Given the description of an element on the screen output the (x, y) to click on. 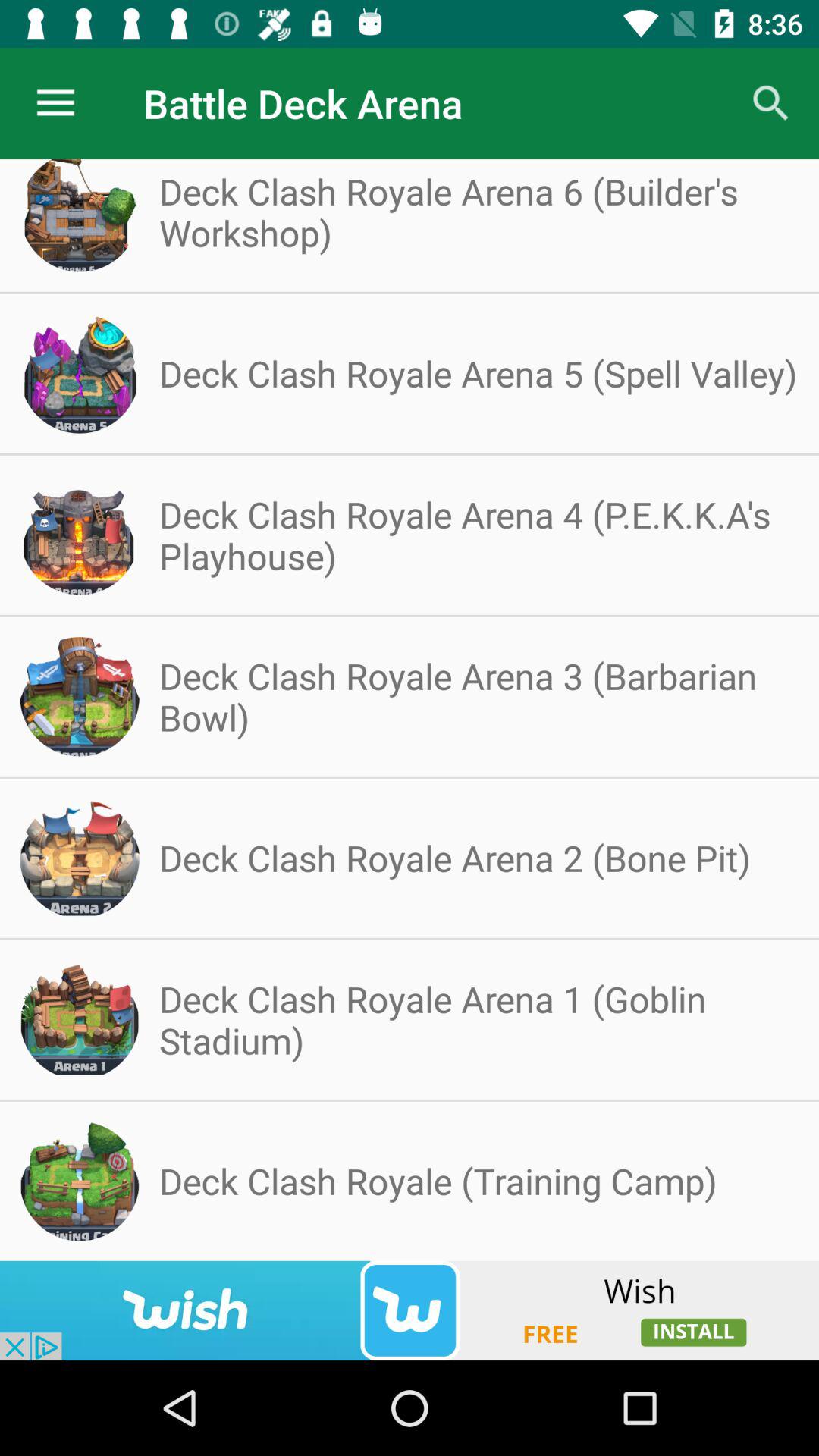
go to advertisement option (409, 1310)
